Given the description of an element on the screen output the (x, y) to click on. 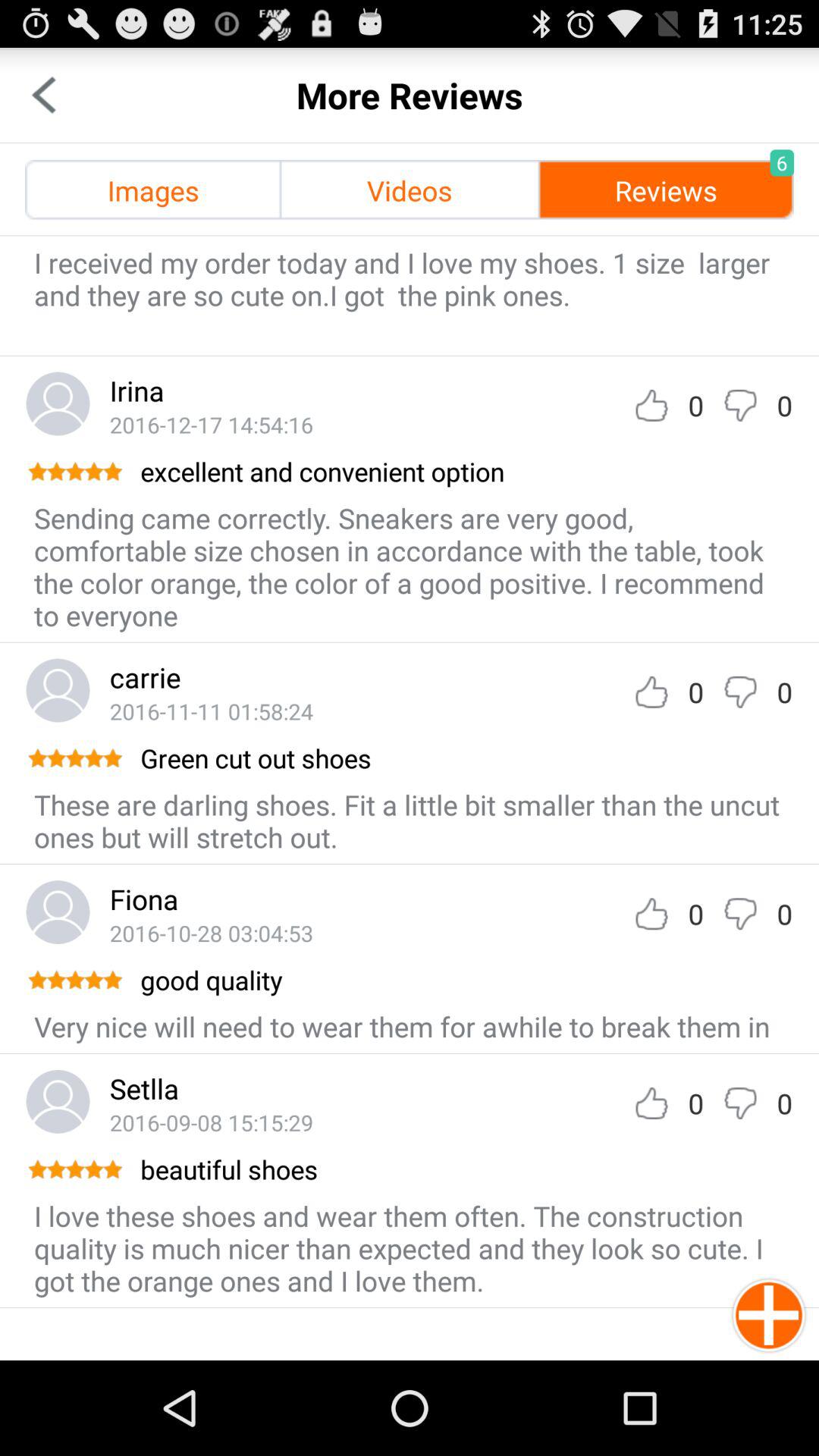
like button (651, 692)
